Given the description of an element on the screen output the (x, y) to click on. 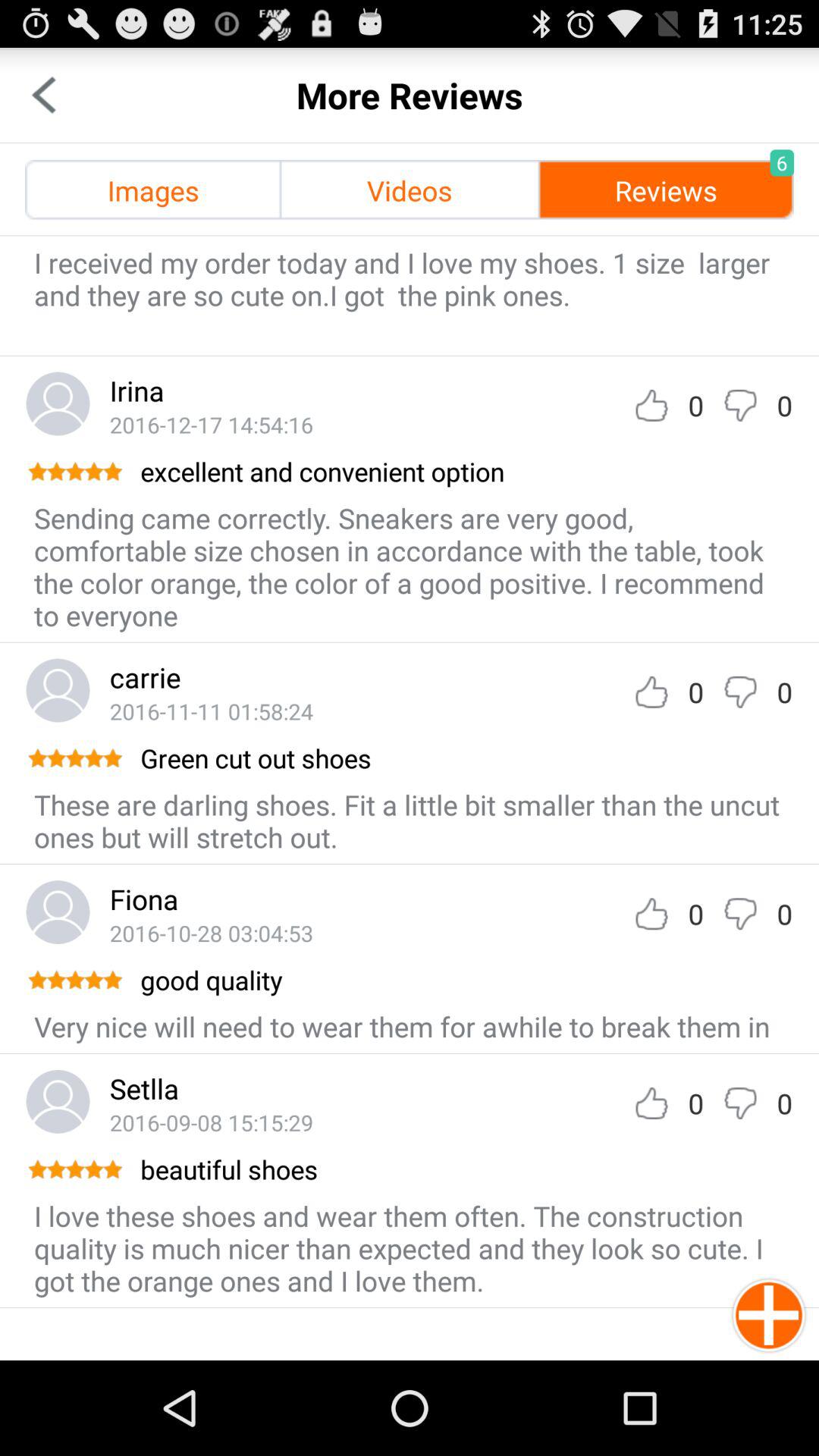
like button (651, 692)
